Given the description of an element on the screen output the (x, y) to click on. 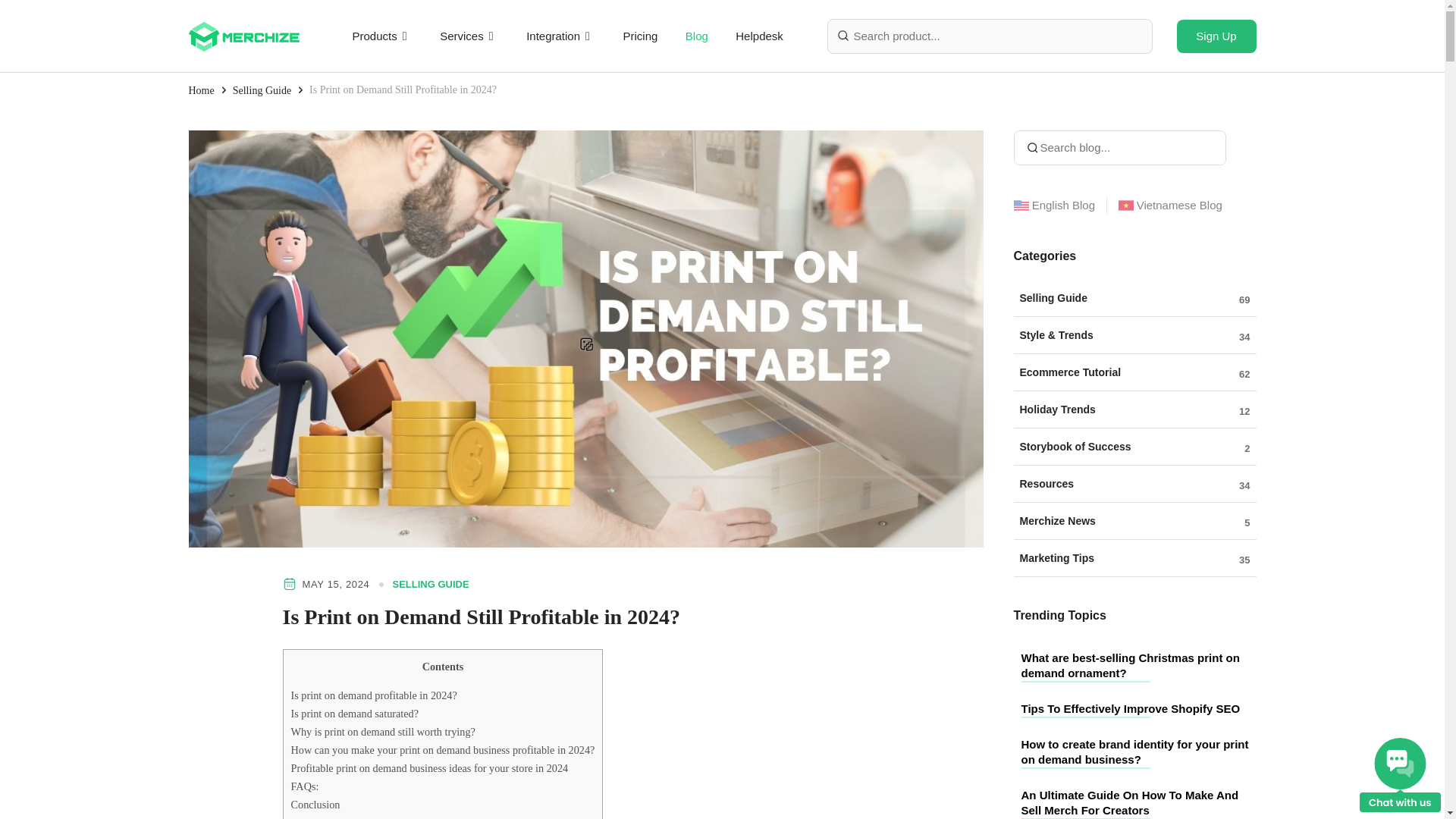
Home (200, 89)
Selling Guide (261, 89)
Is Print on Demand Still Profitable in 2024? (402, 90)
